Given the description of an element on the screen output the (x, y) to click on. 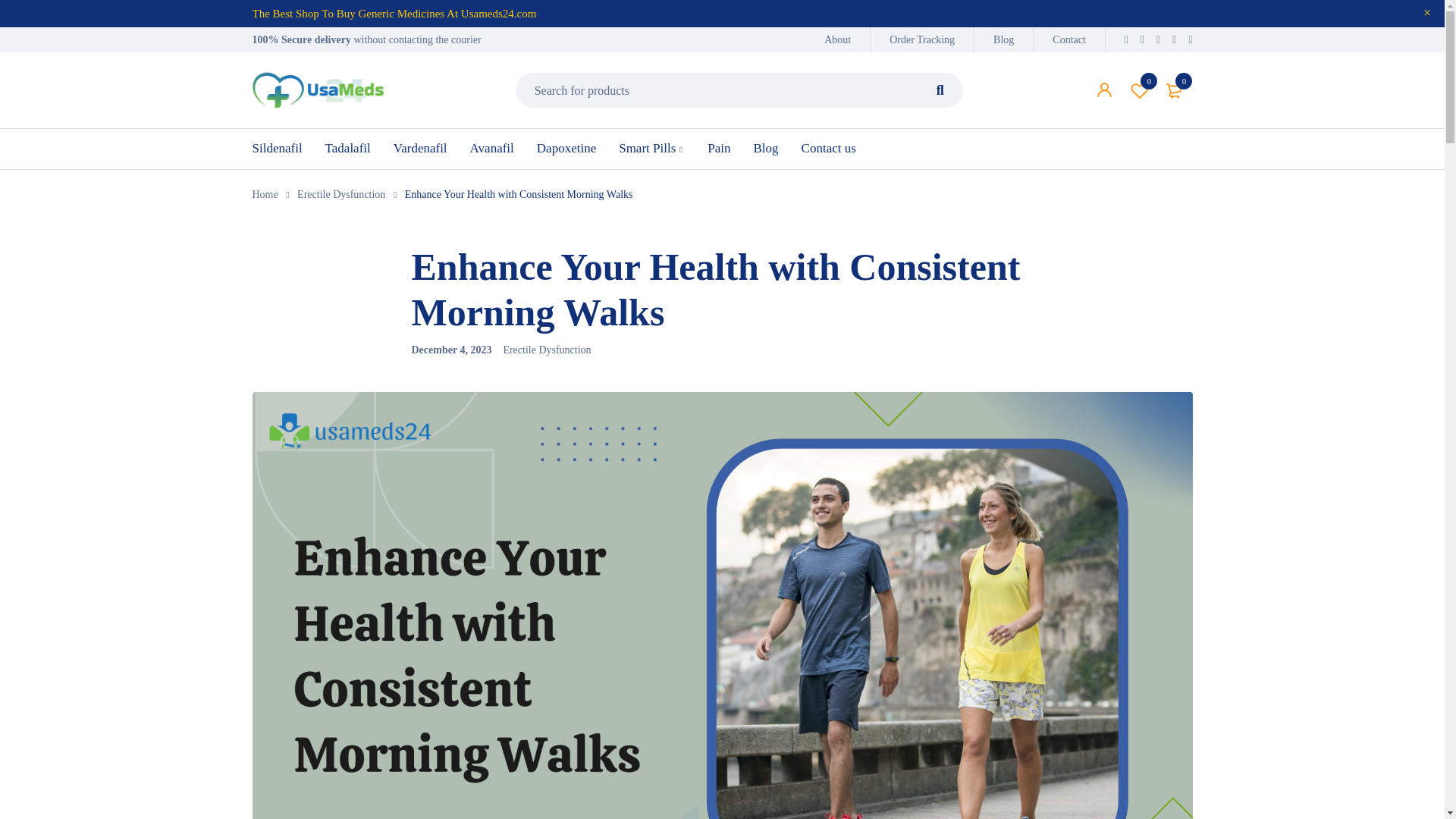
View your shopping cart (1174, 89)
About (837, 39)
Search (1139, 89)
Usameds24.com (939, 89)
0 (318, 89)
Wishlist (1174, 89)
Contact (1139, 89)
Blog (1069, 39)
Search (1003, 39)
